Given the description of an element on the screen output the (x, y) to click on. 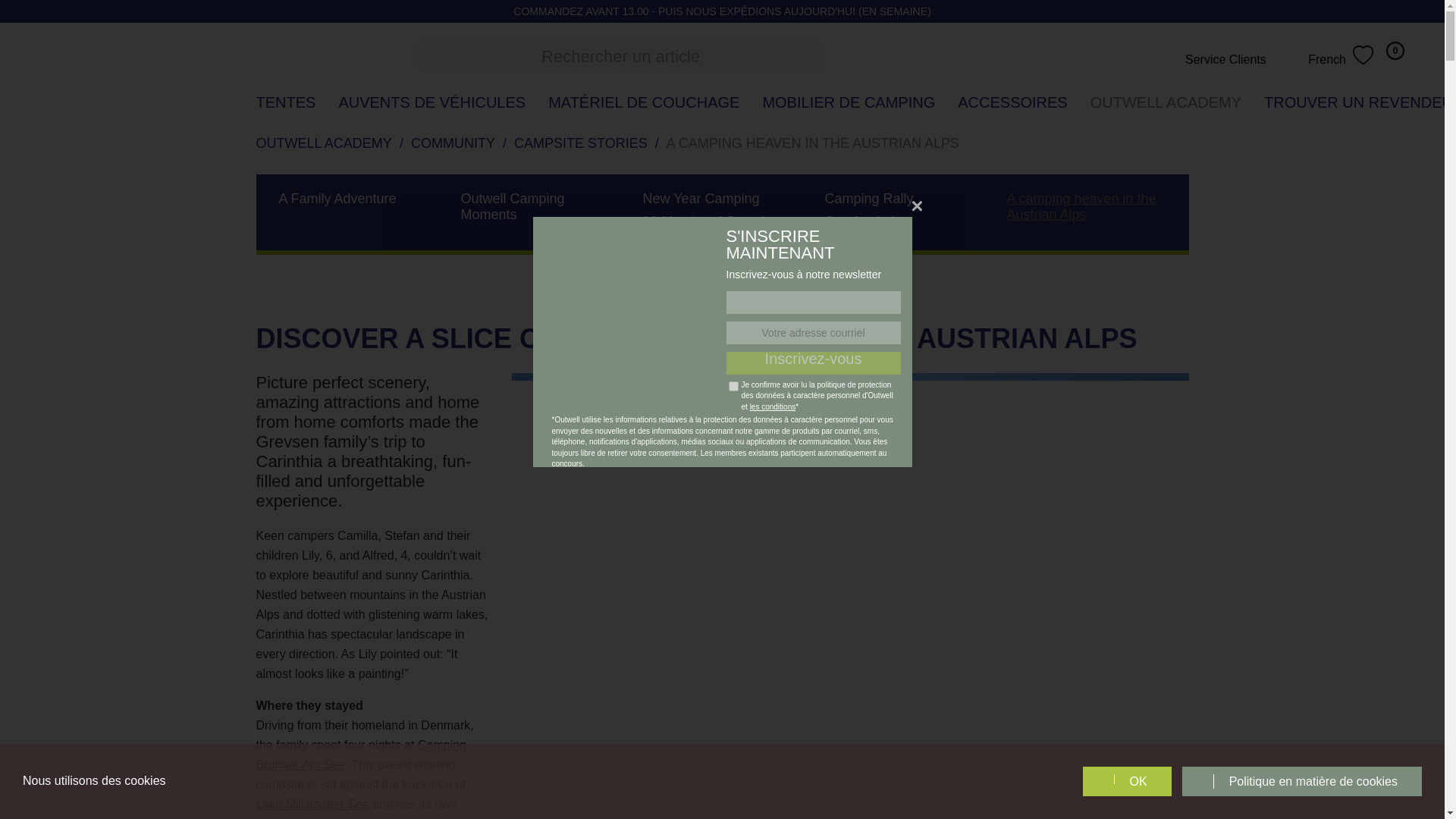
TENTES (285, 102)
0 (1403, 54)
